Given the description of an element on the screen output the (x, y) to click on. 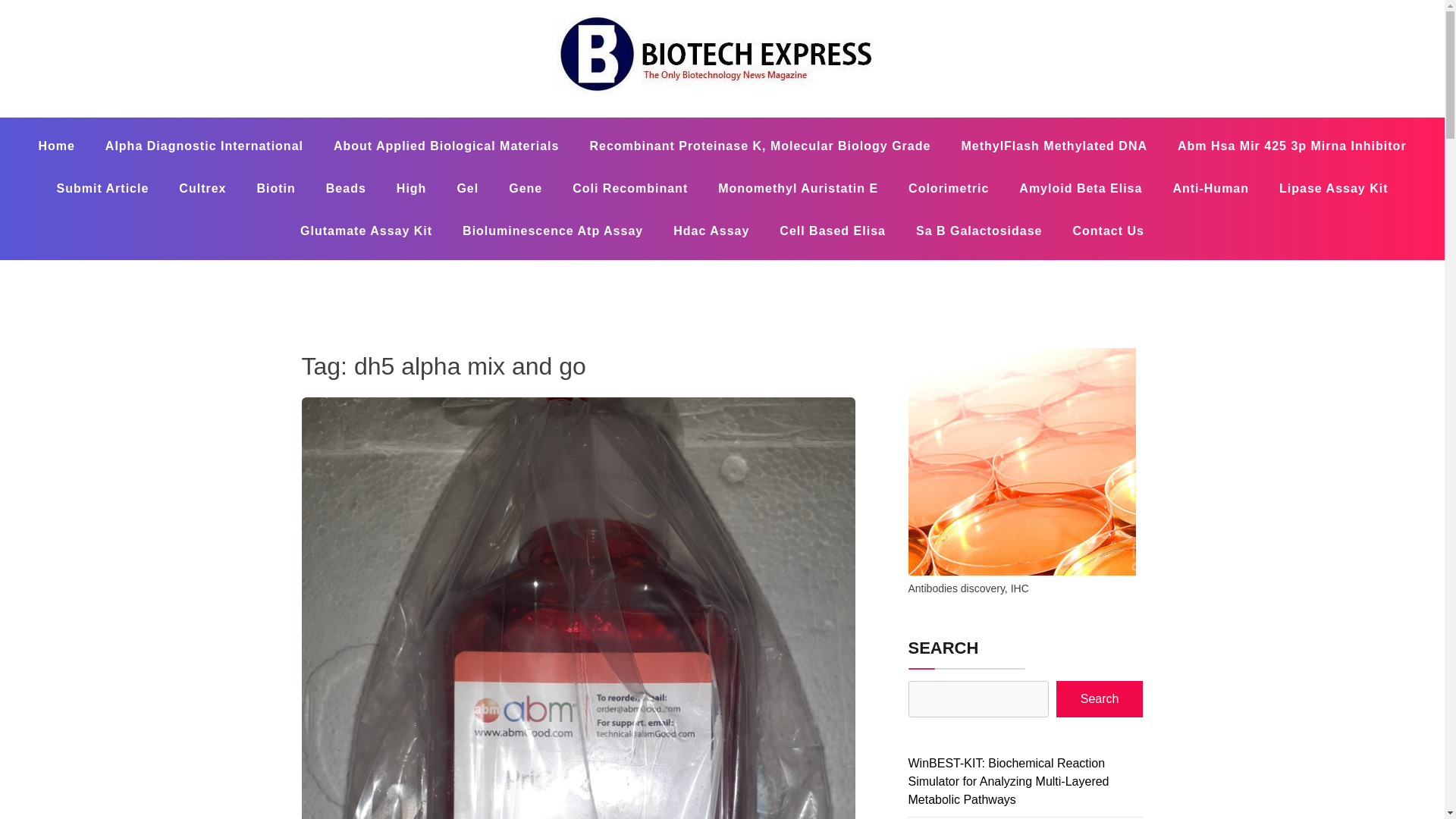
Home (55, 146)
Colorimetric (948, 188)
MethylFlash Methylated DNA (1052, 146)
Kash Biotech Express (481, 116)
Alpha Diagnostic International (204, 146)
Cultrex (202, 188)
Hdac Assay (711, 230)
Submit Article (101, 188)
Coli Recombinant (630, 188)
Contact Us (1107, 230)
Kash Biotech Express (481, 116)
Amyloid Beta Elisa (1080, 188)
Sa B Galactosidase (979, 230)
Recombinant Proteinase K, Molecular Biology Grade (758, 146)
Abm Hsa Mir 425 3p Mirna Inhibitor (1291, 146)
